Given the description of an element on the screen output the (x, y) to click on. 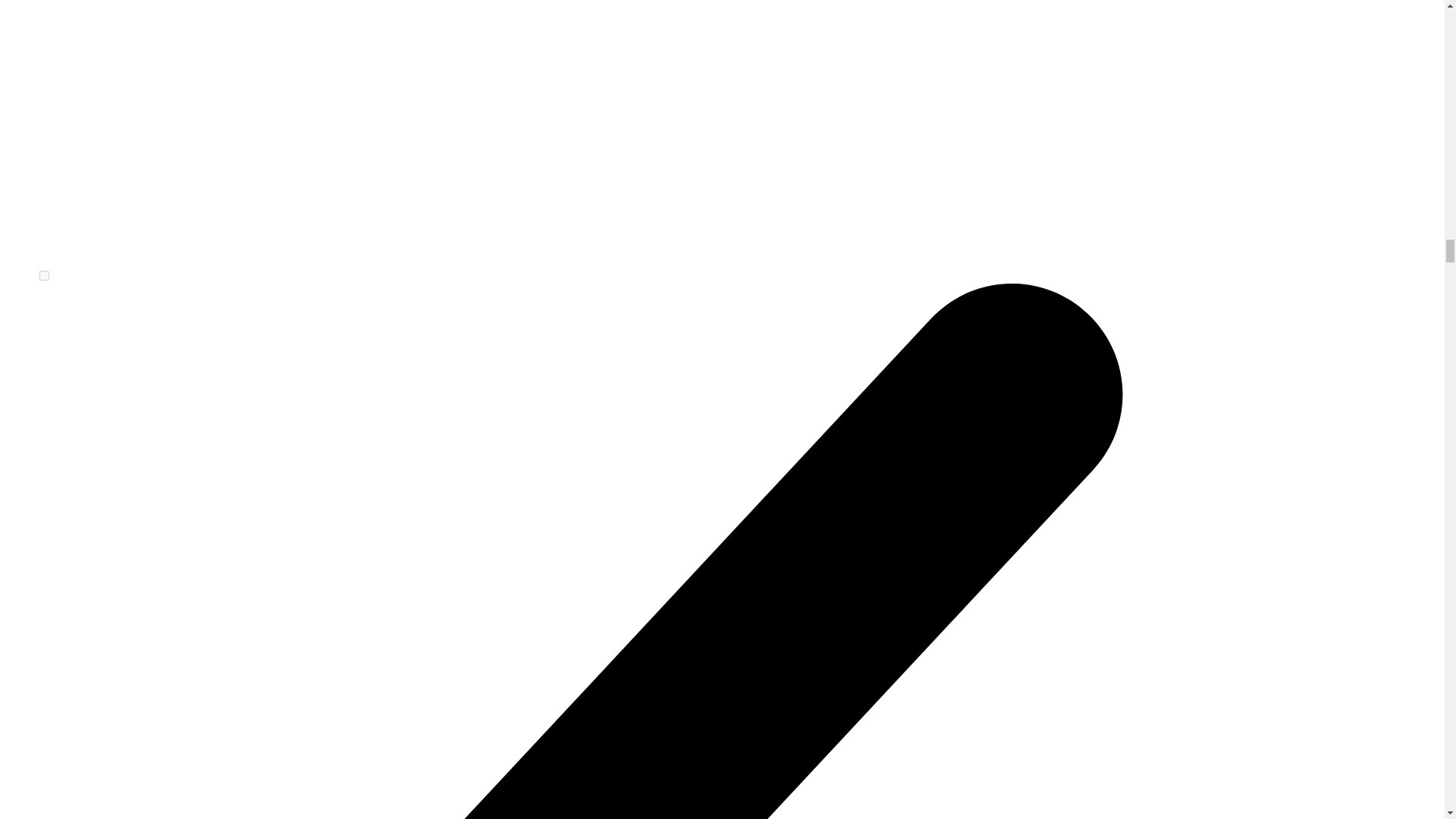
on (44, 275)
